Given the description of an element on the screen output the (x, y) to click on. 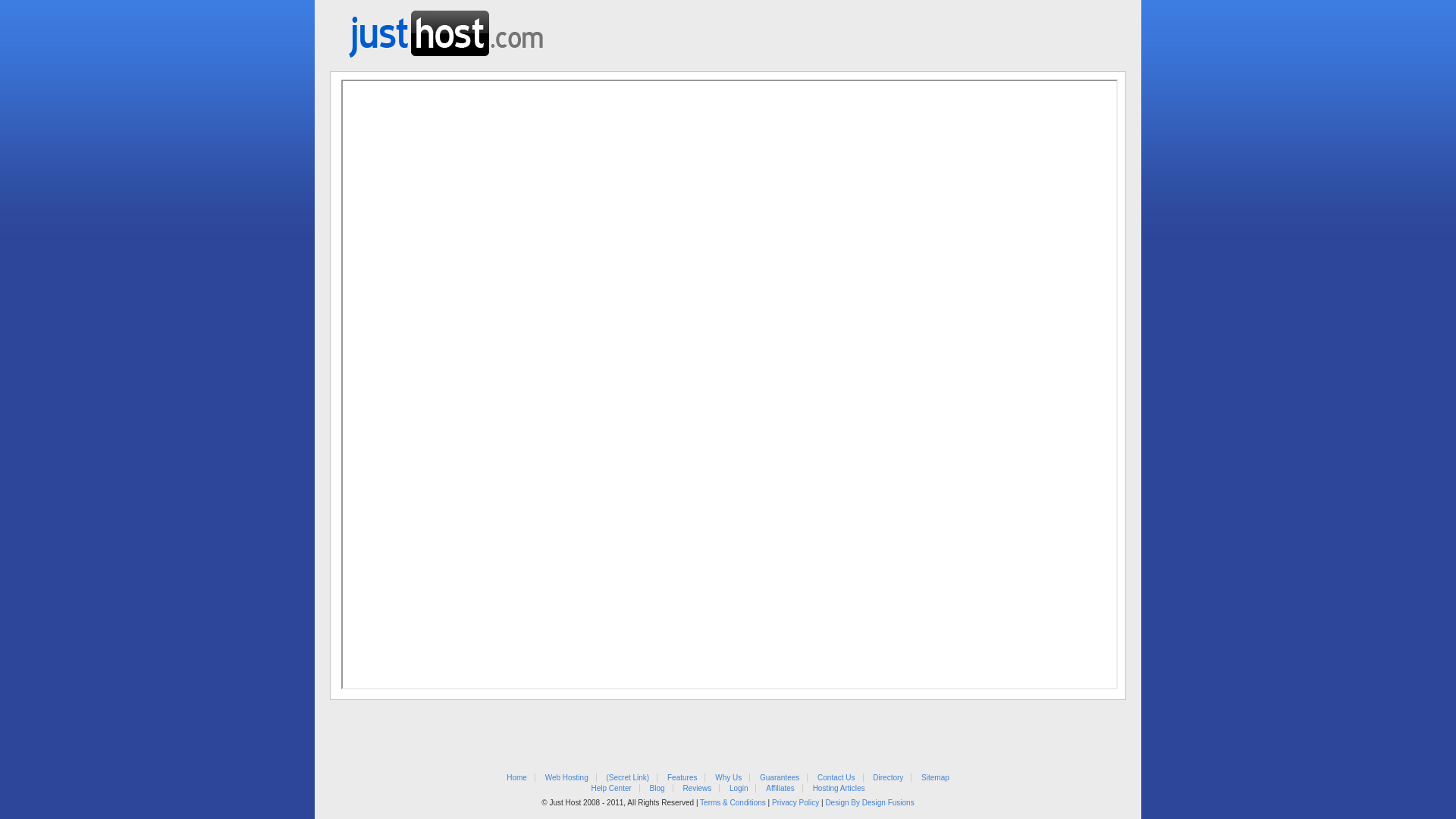
Web Hosting Element type: text (566, 777)
Login Element type: text (738, 788)
Reviews Element type: text (696, 788)
Blog Element type: text (657, 788)
Hosting Articles Element type: text (838, 788)
Directory Element type: text (887, 777)
Guarantees Element type: text (779, 777)
Sitemap Element type: text (935, 777)
Home Element type: text (516, 777)
Web Hosting from Just Host Element type: text (445, 28)
(Secret Link) Element type: text (627, 777)
Terms & Conditions Element type: text (732, 802)
Help Center Element type: text (610, 788)
Features Element type: text (681, 777)
Affiliates Element type: text (779, 788)
Contact Us Element type: text (835, 777)
Privacy Policy Element type: text (795, 802)
Design By Design Fusions Element type: text (869, 802)
Why Us Element type: text (728, 777)
